Given the description of an element on the screen output the (x, y) to click on. 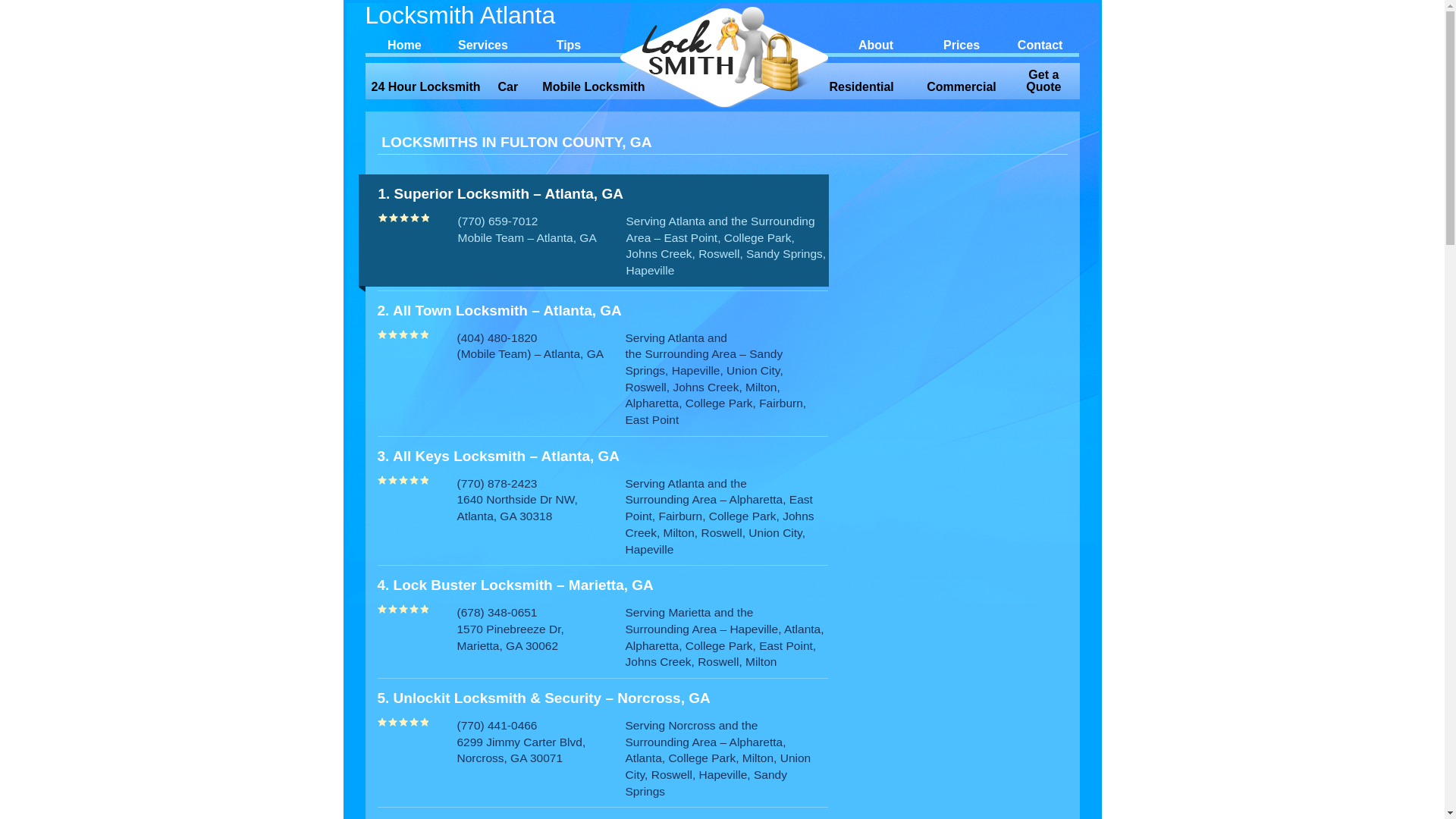
Prices Element type: text (961, 43)
Residential Element type: text (860, 87)
(770) 878-2423 Element type: text (496, 482)
Home Element type: text (404, 43)
About Element type: text (875, 43)
Tips Element type: text (568, 43)
Services Element type: text (482, 43)
Locksmith Atlanta, Georgia Element type: hover (722, 56)
Contact Element type: text (1040, 43)
Commercial Element type: text (961, 87)
Get a Quote Element type: text (1043, 80)
Locksmith Atlanta Element type: text (490, 15)
(770) 659-7012 Element type: text (498, 220)
Car Element type: text (508, 87)
(678) 348-0651 Element type: text (496, 611)
24 Hour Locksmith Element type: text (425, 87)
Mobile Locksmith Element type: text (593, 87)
(770) 441-0466 Element type: text (496, 724)
(404) 480-1820 Element type: text (496, 337)
